Given the description of an element on the screen output the (x, y) to click on. 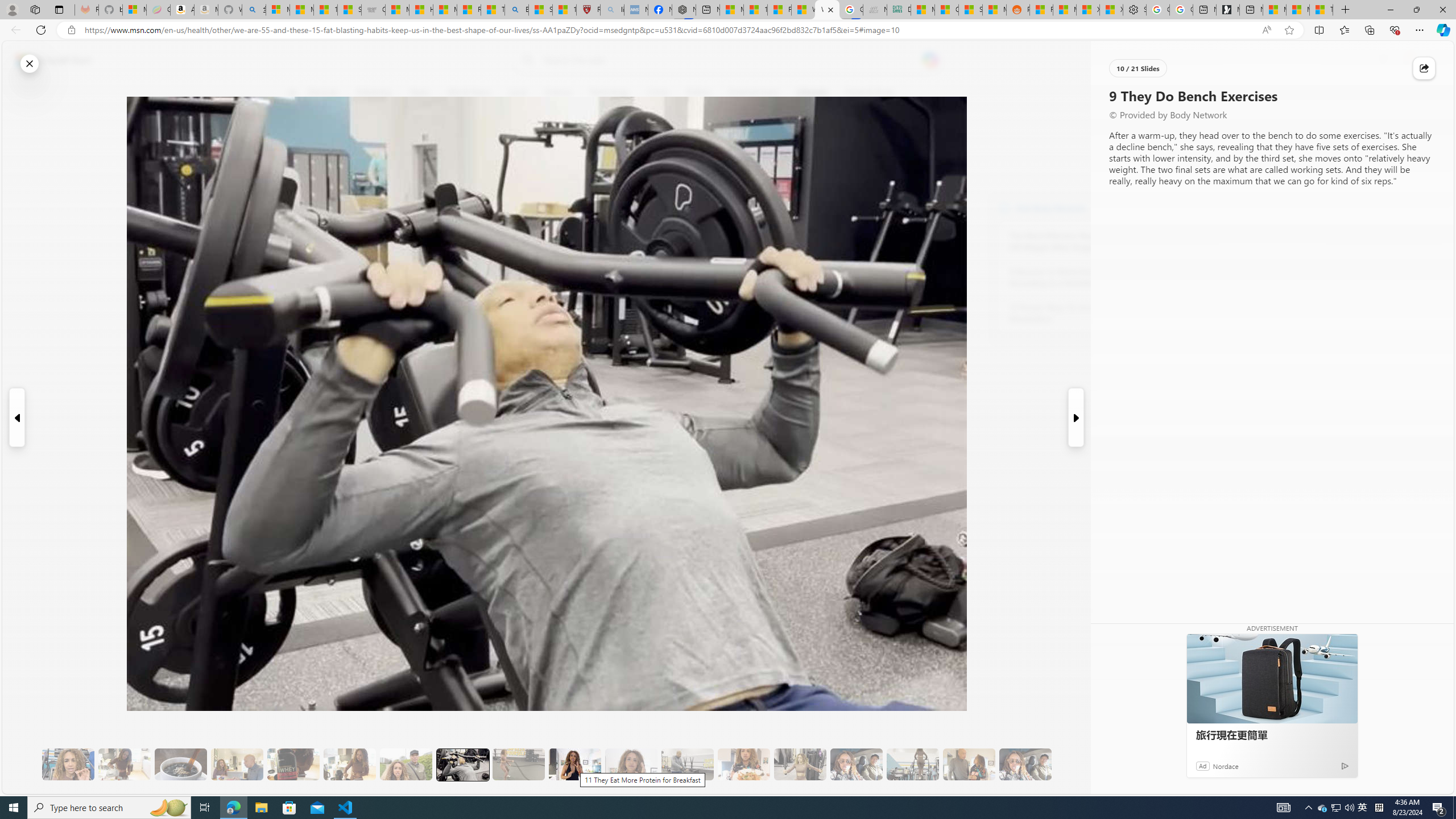
14 They Have Salmon and Veggies for Dinner (743, 764)
14 They Have Salmon and Veggies for Dinner (743, 764)
11 They Eat More Protein for Breakfast (574, 764)
Visit Body Network website (1145, 207)
9 They Do Bench Exercises (462, 764)
